Given the description of an element on the screen output the (x, y) to click on. 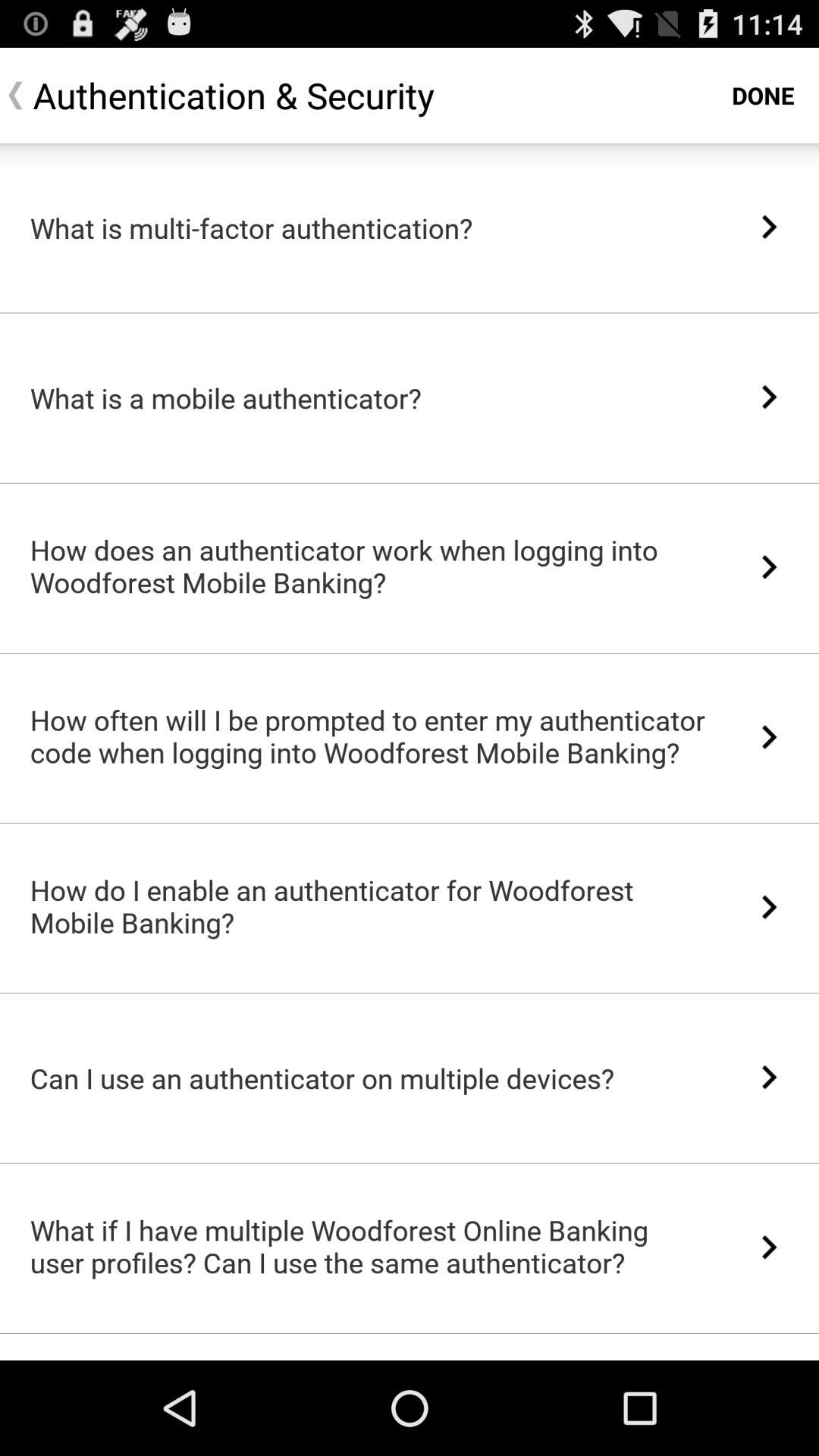
turn off the item below how does an item (409, 652)
